Given the description of an element on the screen output the (x, y) to click on. 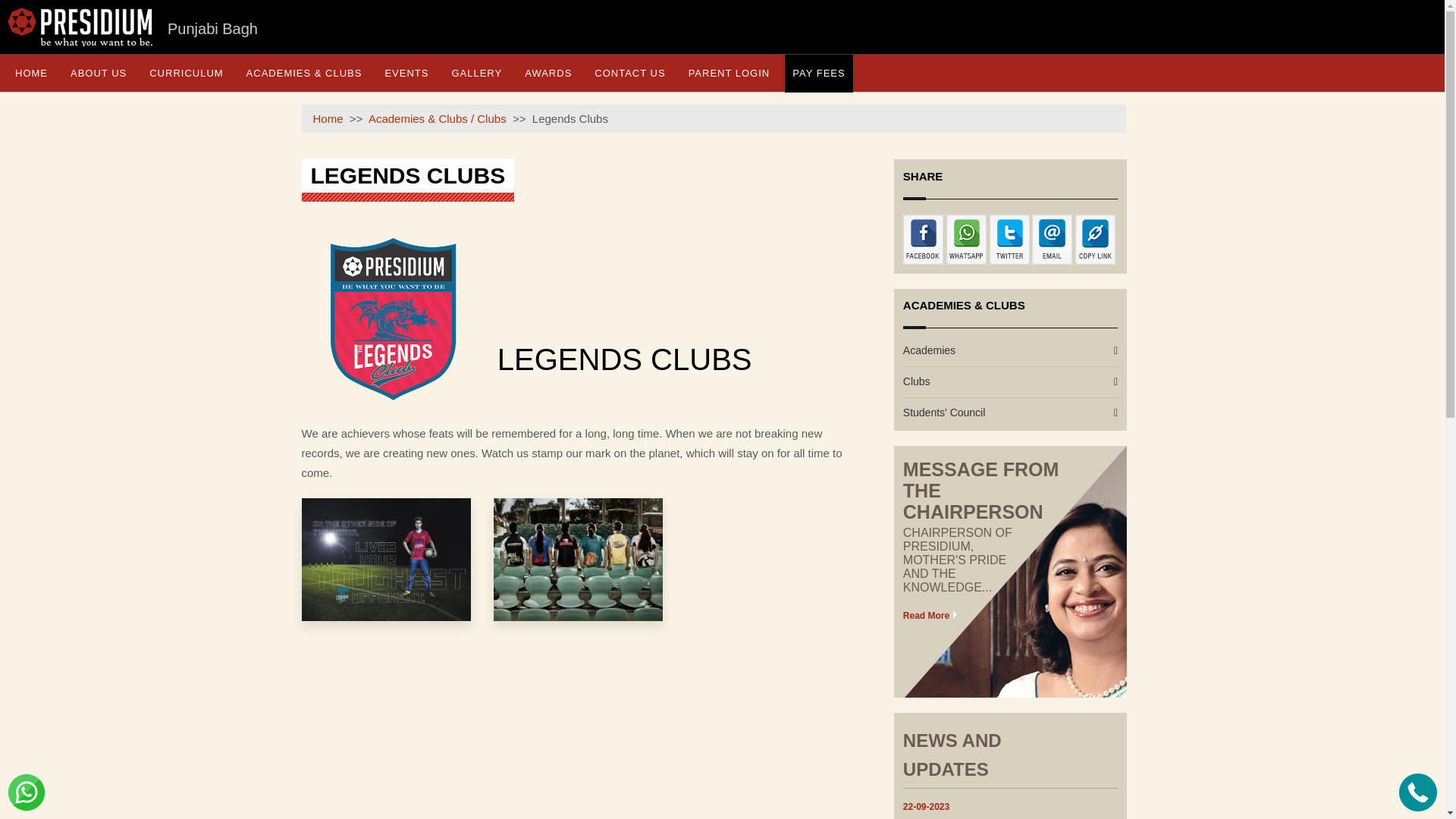
AWARDS (547, 72)
CONTACT US (629, 72)
EVENTS (406, 72)
CURRICULUM (185, 72)
GALLERY (476, 72)
Call Us (1418, 792)
PARENT LOGIN (729, 72)
Home (327, 118)
PAY FEES (817, 72)
ABOUT US (97, 72)
HOME (31, 72)
WhatsApp us (26, 792)
